Given the description of an element on the screen output the (x, y) to click on. 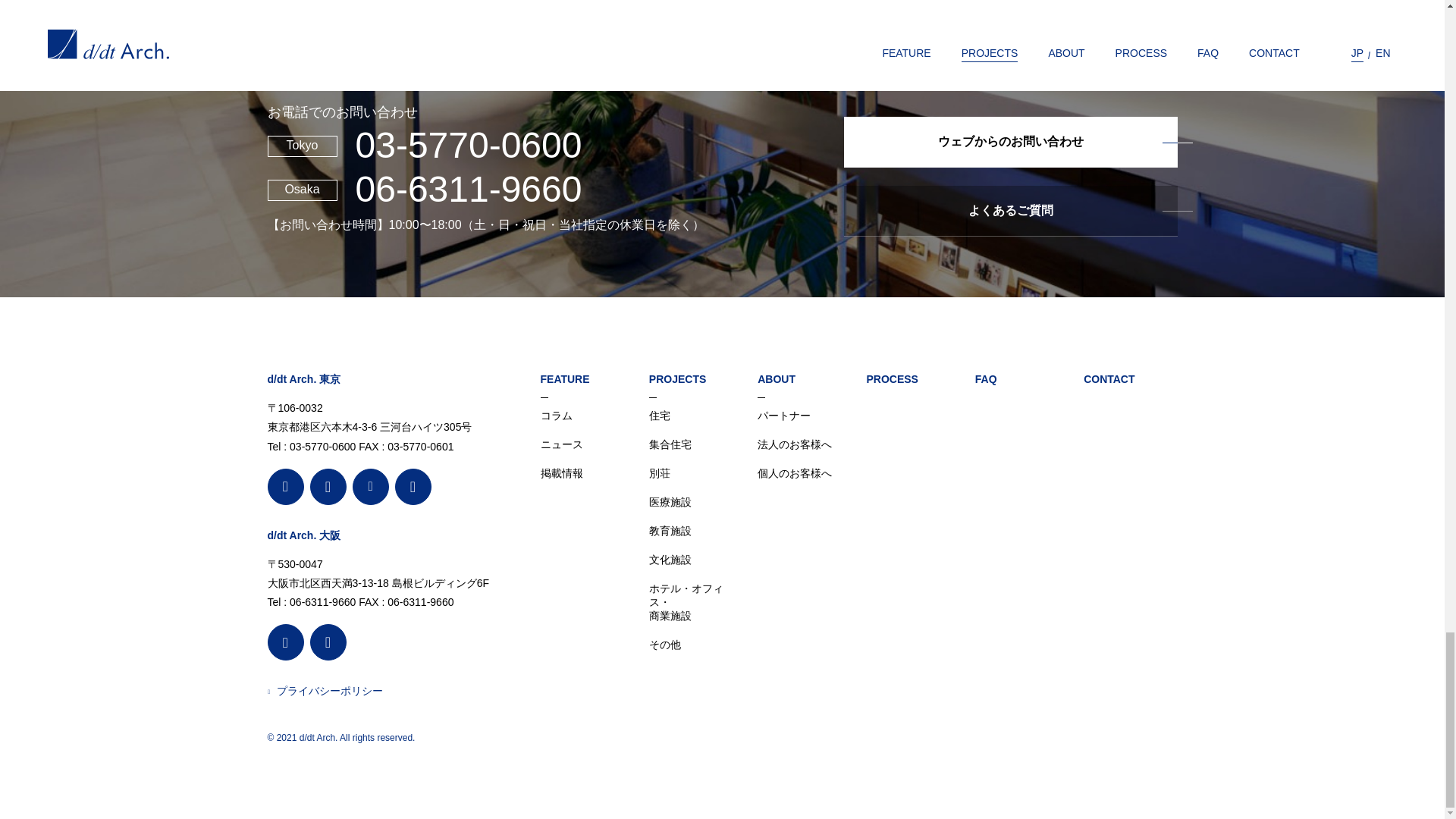
03-5770-0600 (467, 145)
